Given the description of an element on the screen output the (x, y) to click on. 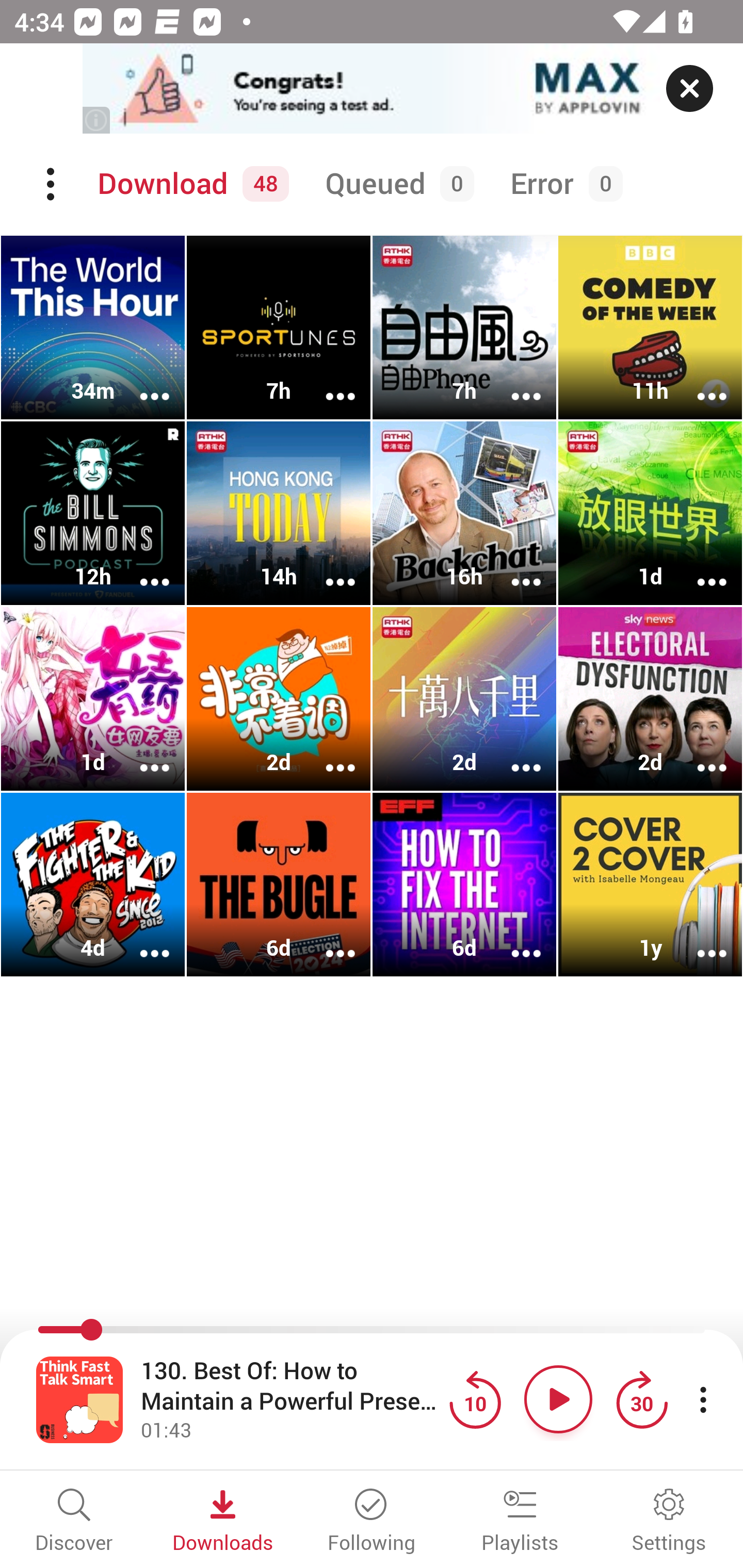
app-monetization (371, 88)
(i) (96, 119)
Menu (52, 184)
 Download 48 (189, 184)
 Queued 0 (396, 184)
 Error 0 (562, 184)
The World This Hour 34m More options More options (92, 327)
Sportunes HK 7h More options More options (278, 327)
自由风自由PHONE 7h More options More options (464, 327)
Comedy of the Week 11h More options More options (650, 327)
More options (141, 382)
More options (326, 382)
More options (512, 382)
More options (698, 382)
Hong Kong Today 14h More options More options (278, 513)
Backchat 16h More options More options (464, 513)
放眼世界 1d More options More options (650, 513)
More options (141, 569)
More options (326, 569)
More options (512, 569)
More options (698, 569)
女王有药丨爆笑脱口秀 1d More options More options (92, 698)
非常不着调 2d More options More options (278, 698)
十萬八千里 2d More options More options (464, 698)
Electoral Dysfunction 2d More options More options (650, 698)
More options (141, 754)
More options (326, 754)
More options (512, 754)
More options (698, 754)
The Fighter & The Kid 4d More options More options (92, 883)
The Bugle 6d More options More options (278, 883)
Cover 2 Cover 1y More options More options (650, 883)
More options (141, 940)
More options (326, 940)
More options (512, 940)
More options (698, 940)
Open fullscreen player (79, 1399)
More player controls (703, 1399)
Play button (558, 1398)
Jump back (475, 1399)
Jump forward (641, 1399)
Discover (74, 1521)
Downloads (222, 1521)
Following (371, 1521)
Playlists (519, 1521)
Settings (668, 1521)
